Given the description of an element on the screen output the (x, y) to click on. 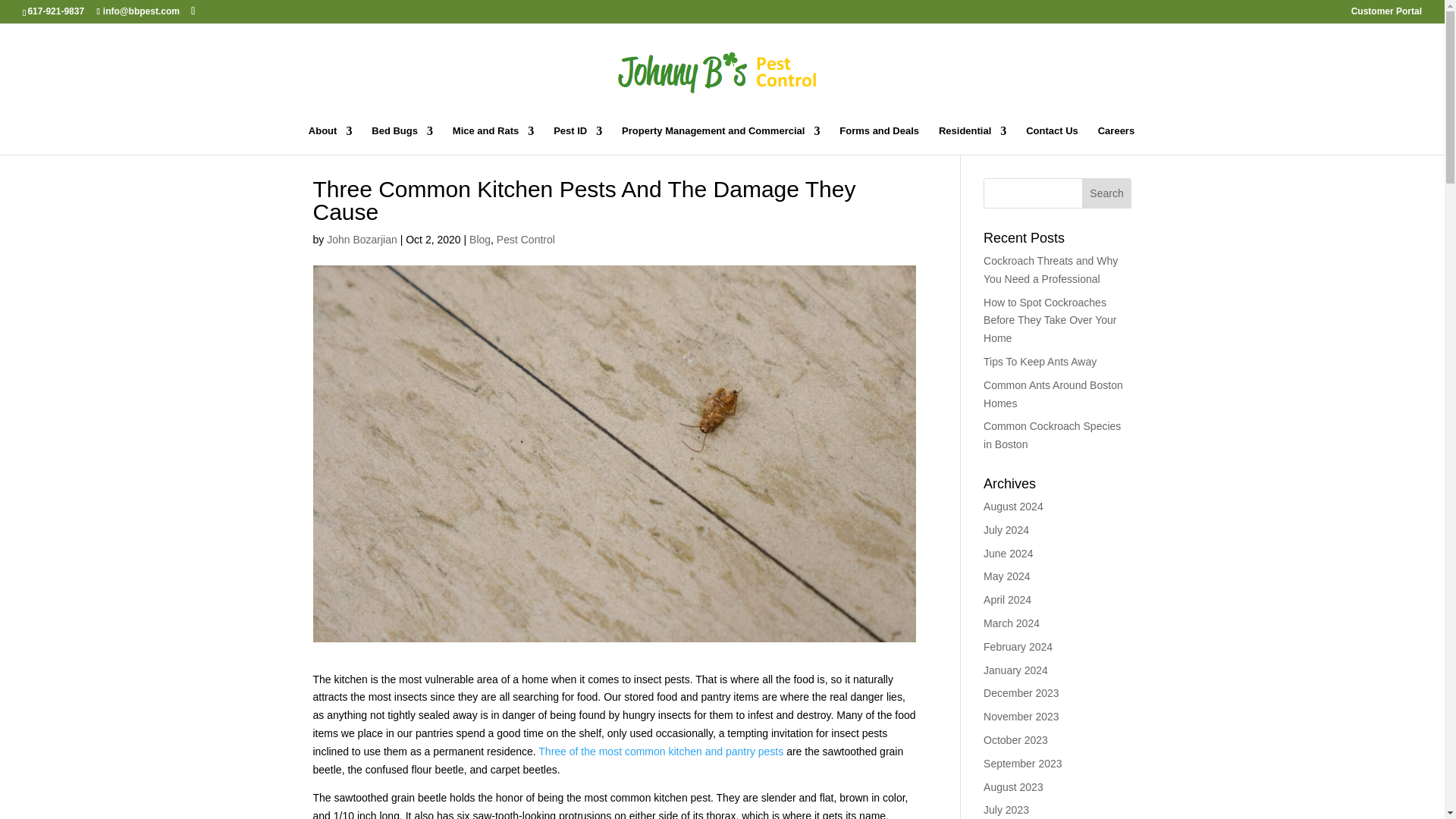
Residential (972, 140)
Forms and Deals (879, 140)
Pest ID (577, 140)
Contact Us (1052, 140)
Property Management and Commercial (720, 140)
About (330, 140)
Posts by John Bozarjian (361, 239)
Customer Portal (1386, 14)
Search (1106, 193)
Mice and Rats (493, 140)
